Given the description of an element on the screen output the (x, y) to click on. 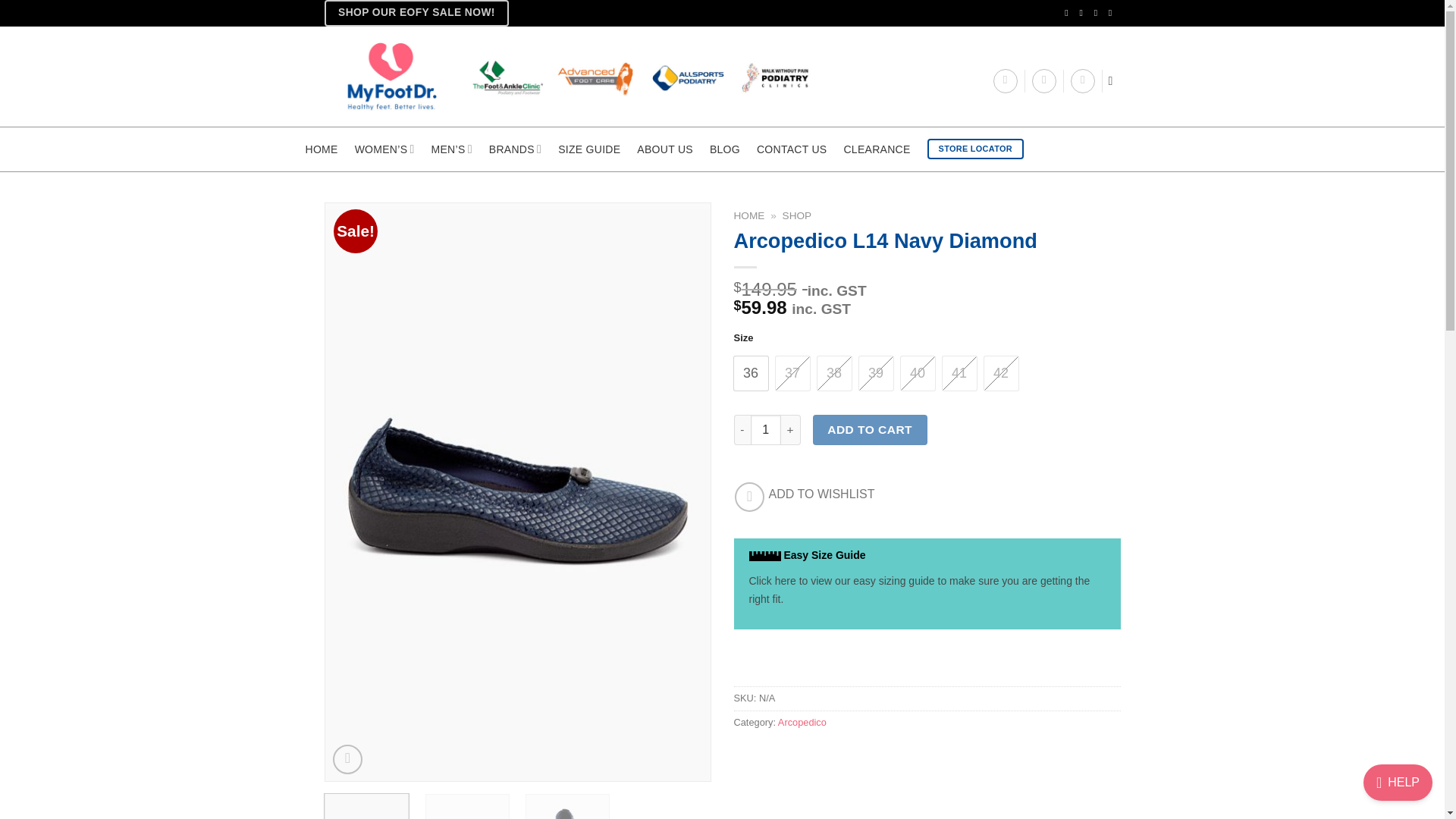
Follow on Instagram (1082, 12)
36 (750, 373)
Login (1004, 80)
BRANDS (515, 149)
37 (791, 373)
MyFootDr Shop - Healthy feet. Better lives. (590, 75)
SHOP OUR EOFY SALE NOW! (416, 13)
Wishlist (1044, 80)
Follow on Facebook (1069, 12)
Follow on YouTube (1113, 12)
Send us an email (1098, 12)
- (742, 429)
Zoom (347, 758)
HOME (320, 149)
1 (765, 429)
